Given the description of an element on the screen output the (x, y) to click on. 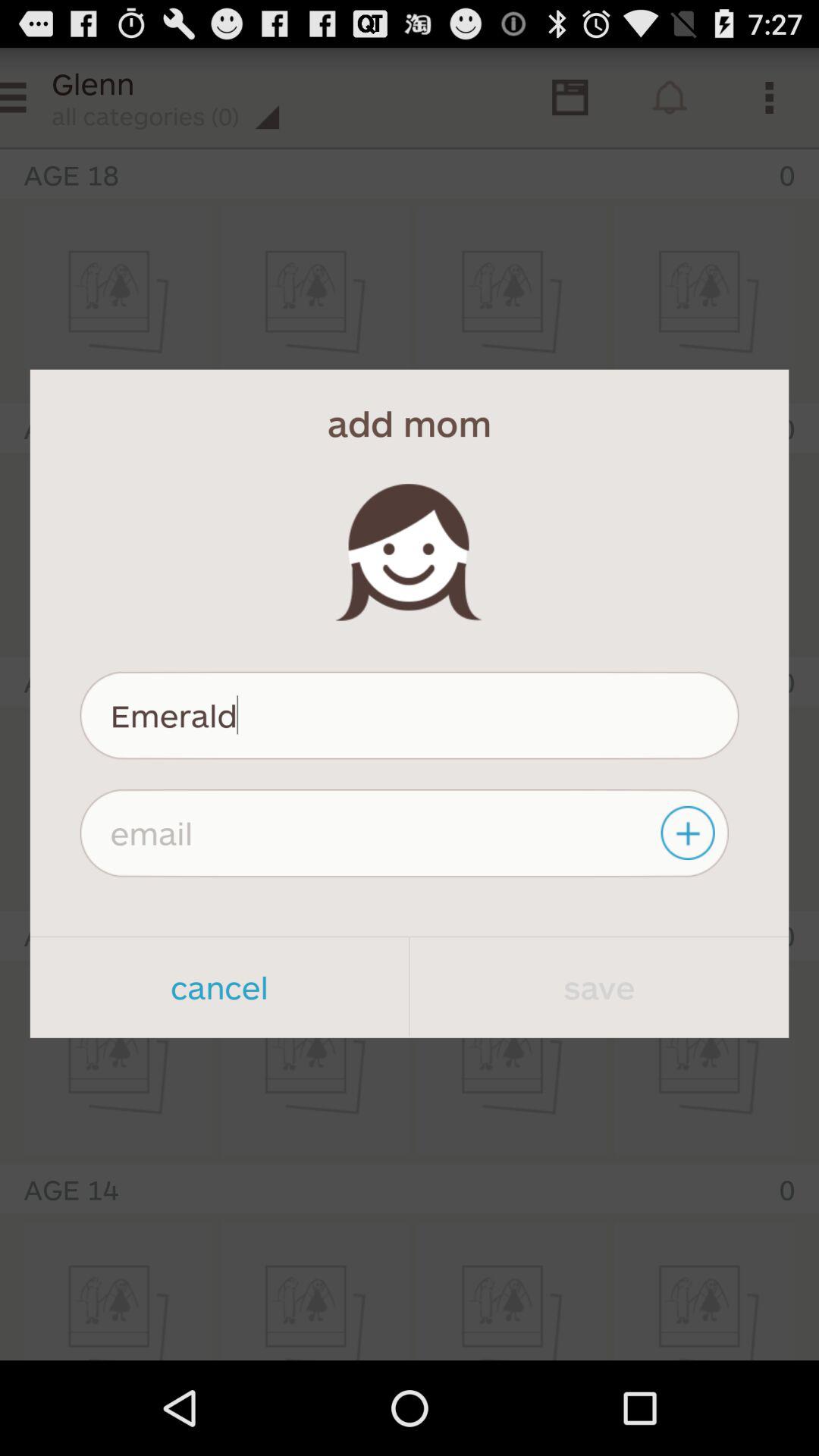
select item to the right of the cancel app (598, 986)
